Given the description of an element on the screen output the (x, y) to click on. 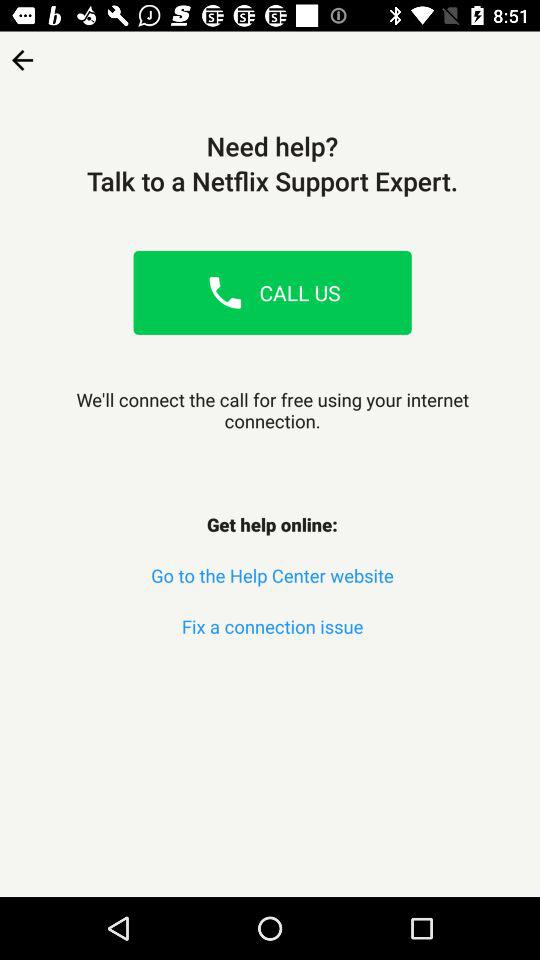
launch the item below go to the (272, 626)
